Given the description of an element on the screen output the (x, y) to click on. 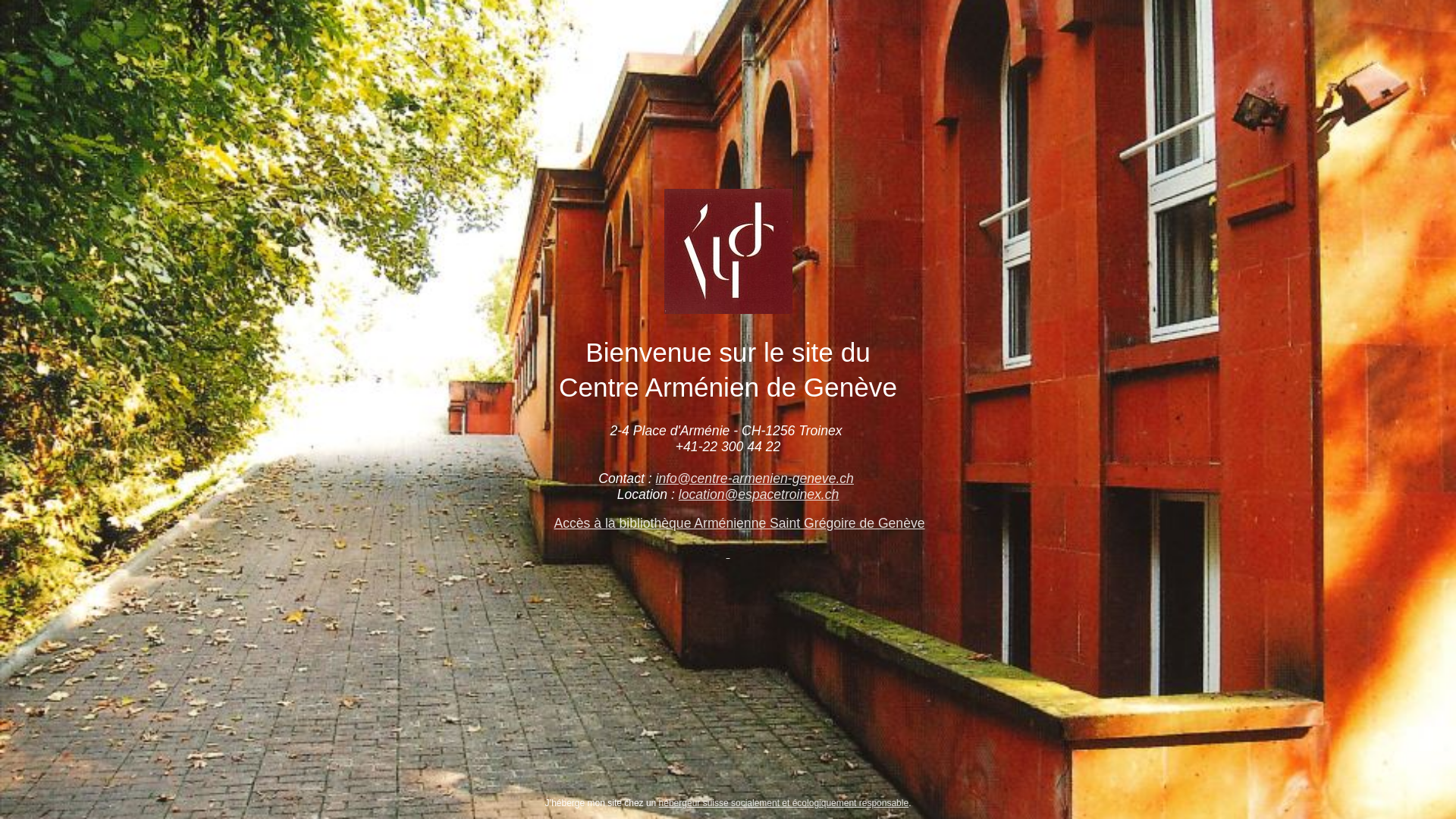
info@centre-armenien-geneve.ch Element type: text (754, 478)
  Element type: text (728, 552)
location@espacetroinex.ch Element type: text (758, 494)
